Given the description of an element on the screen output the (x, y) to click on. 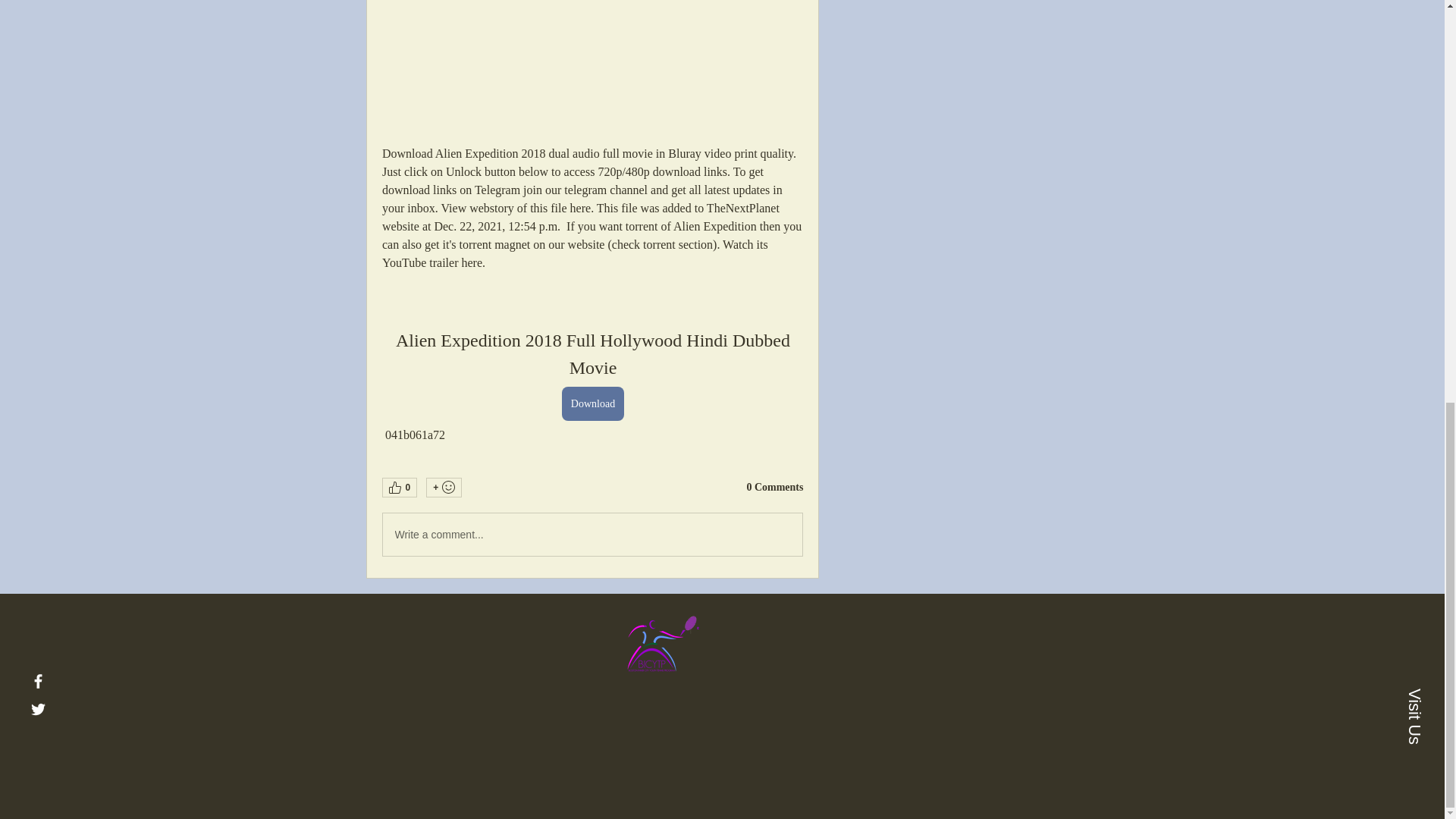
Write a comment... (591, 534)
Download (591, 403)
0 Comments (774, 487)
